Given the description of an element on the screen output the (x, y) to click on. 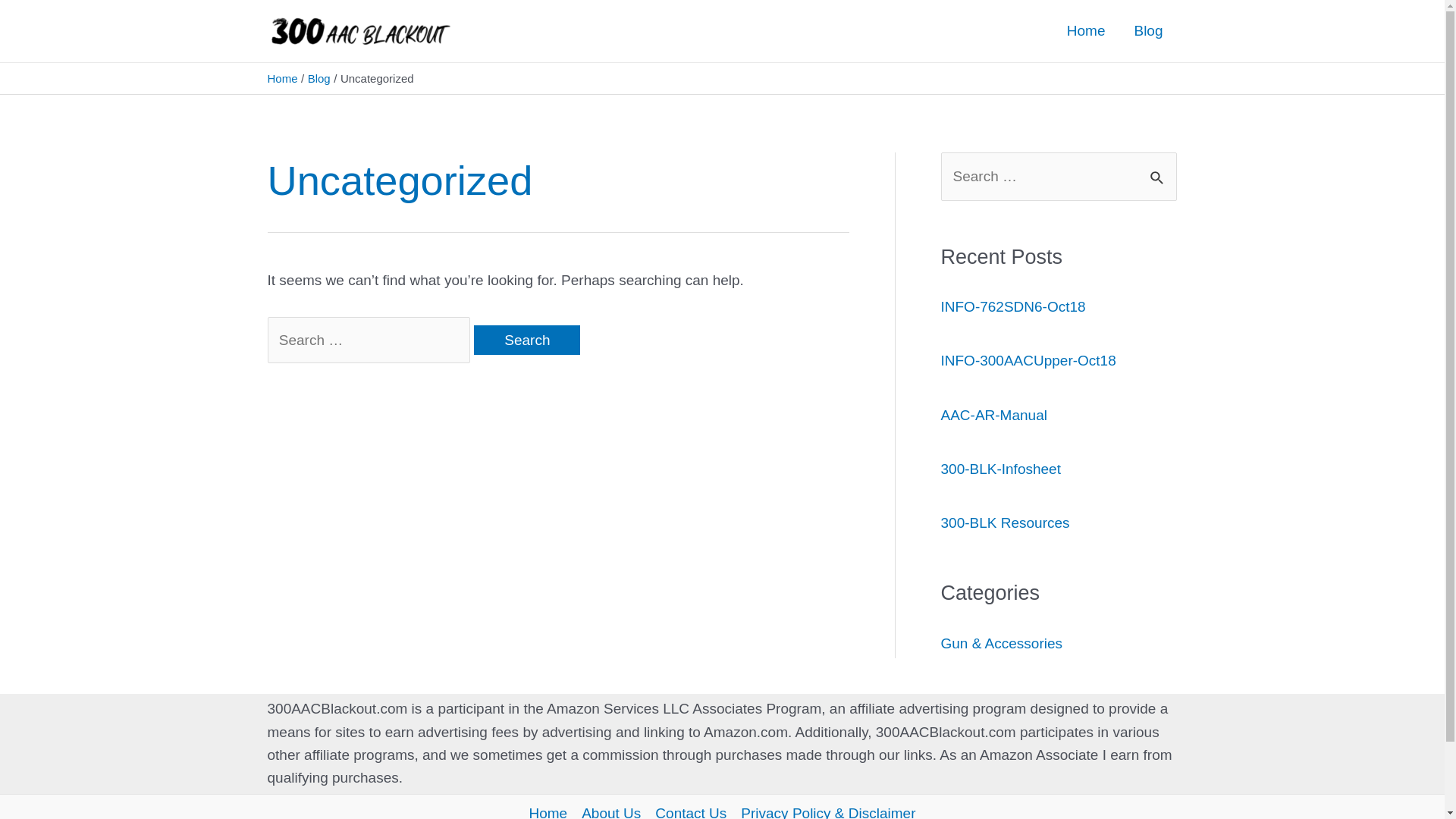
300-BLK-Infosheet Element type: text (1000, 468)
INFO-300AACUpper-Oct18 Element type: text (1027, 360)
Blog Element type: text (1147, 30)
Home Element type: text (1086, 30)
INFO-762SDN6-Oct18 Element type: text (1012, 306)
Search Element type: text (526, 339)
Search Element type: text (1159, 169)
Blog Element type: text (318, 78)
AAC-AR-Manual Element type: text (993, 415)
Home Element type: text (281, 78)
Gun & Accessories Element type: text (1001, 643)
300-BLK Resources Element type: text (1004, 522)
